Given the description of an element on the screen output the (x, y) to click on. 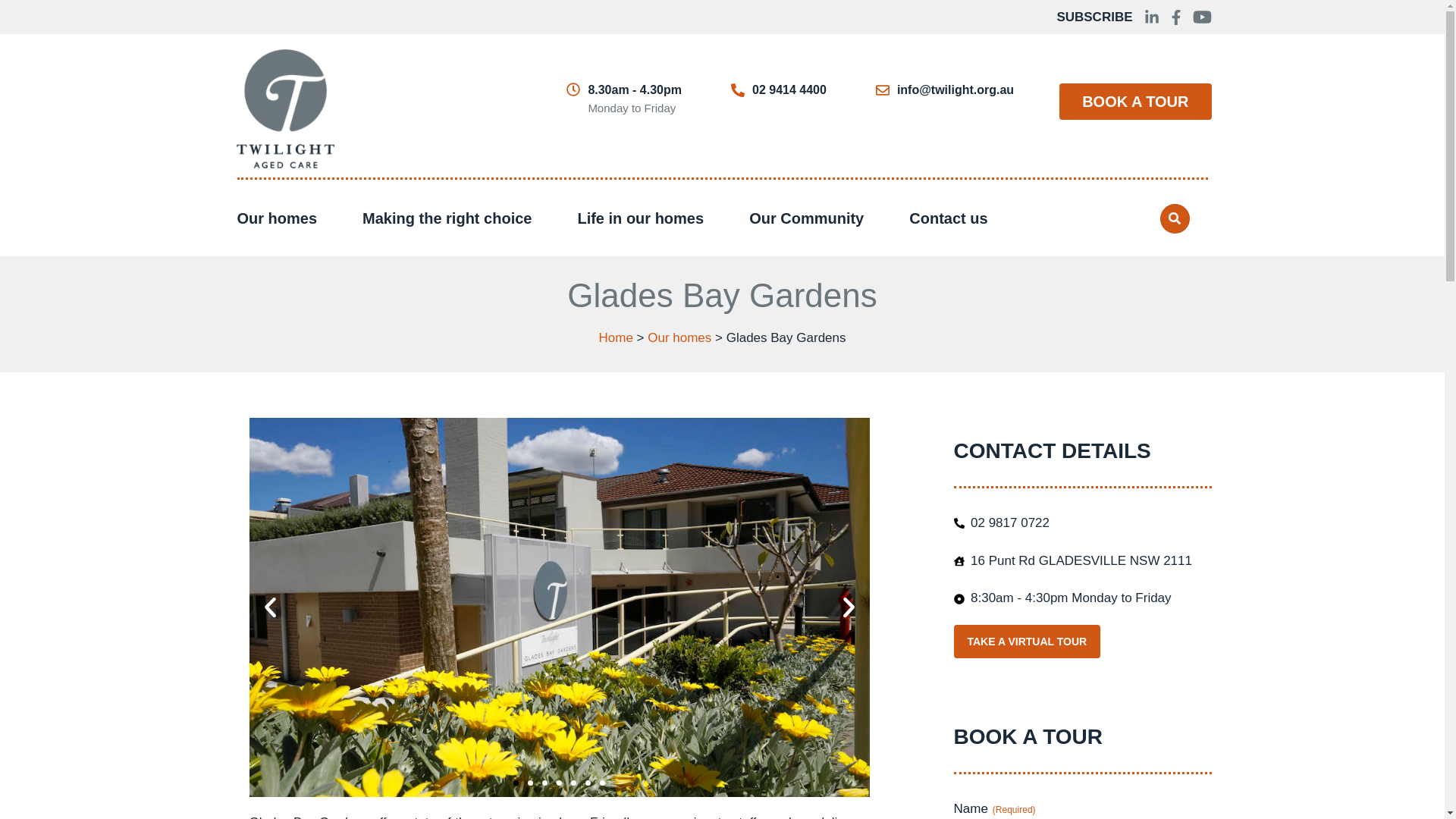
BOOK A TOUR (1135, 101)
02 9414 4400 (789, 89)
SUBSCRIBE (1094, 16)
8.30am - 4.30pm (634, 89)
